Given the description of an element on the screen output the (x, y) to click on. 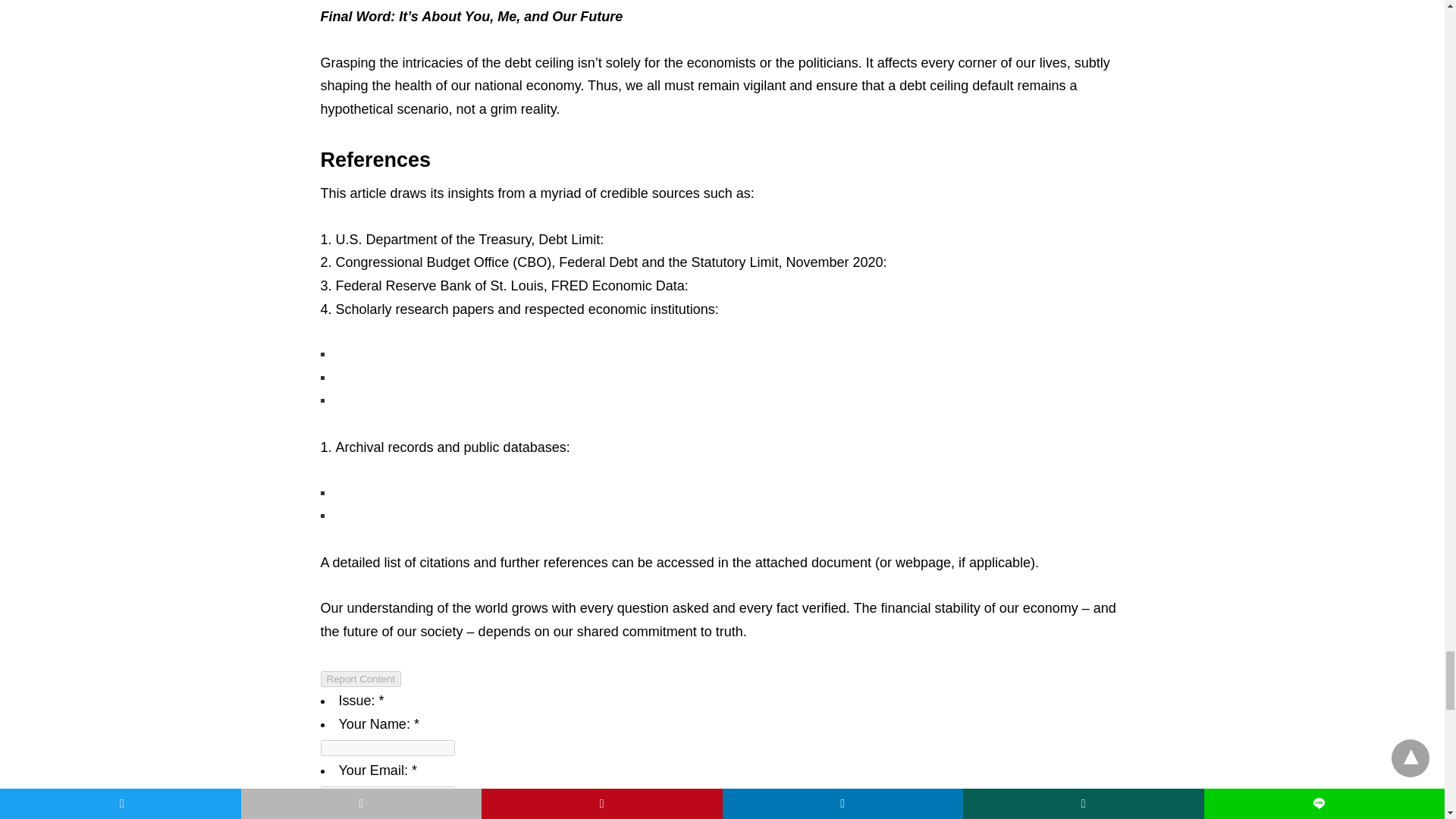
Report Content (360, 678)
